Given the description of an element on the screen output the (x, y) to click on. 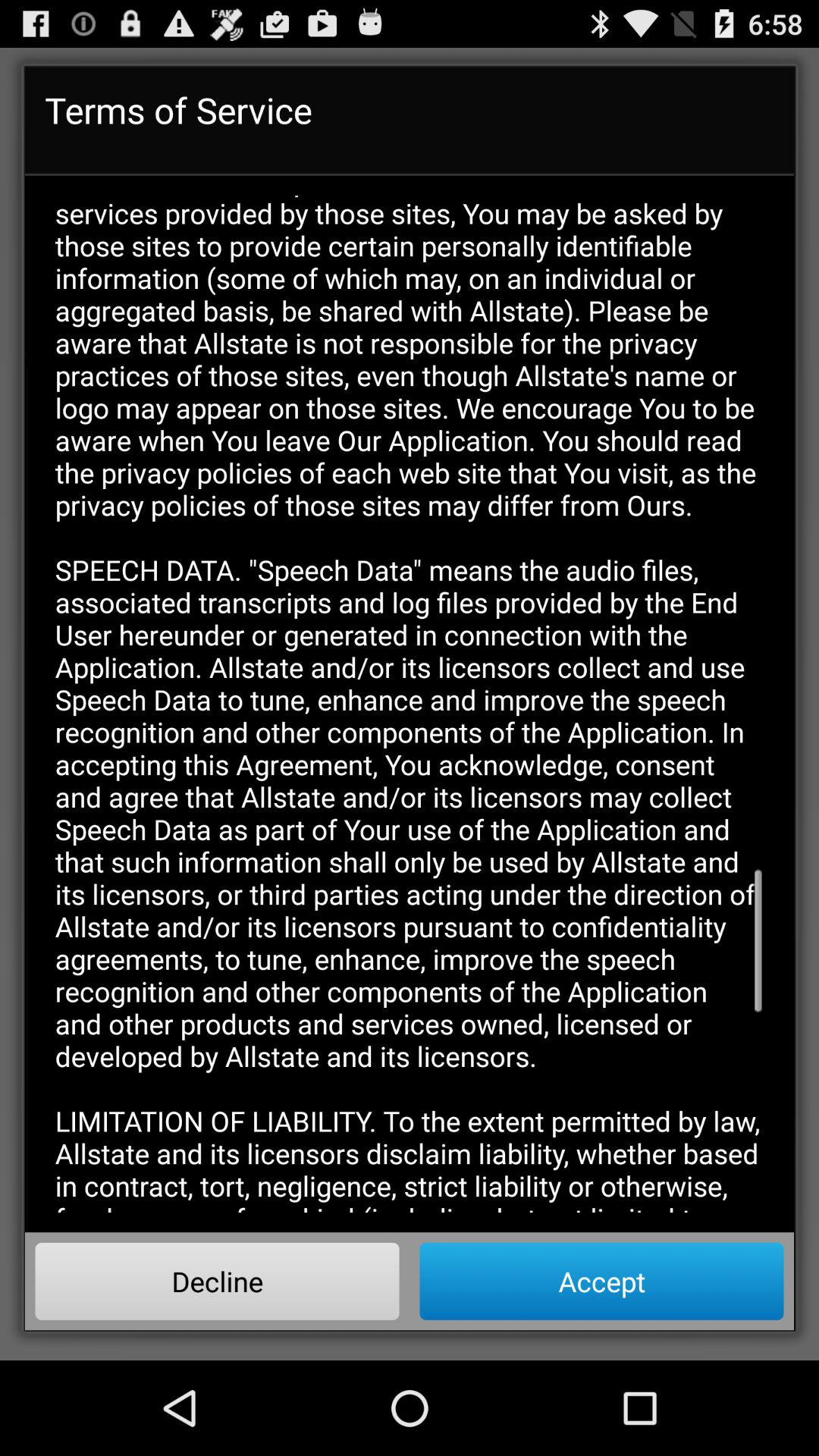
scroll until the decline item (217, 1281)
